Given the description of an element on the screen output the (x, y) to click on. 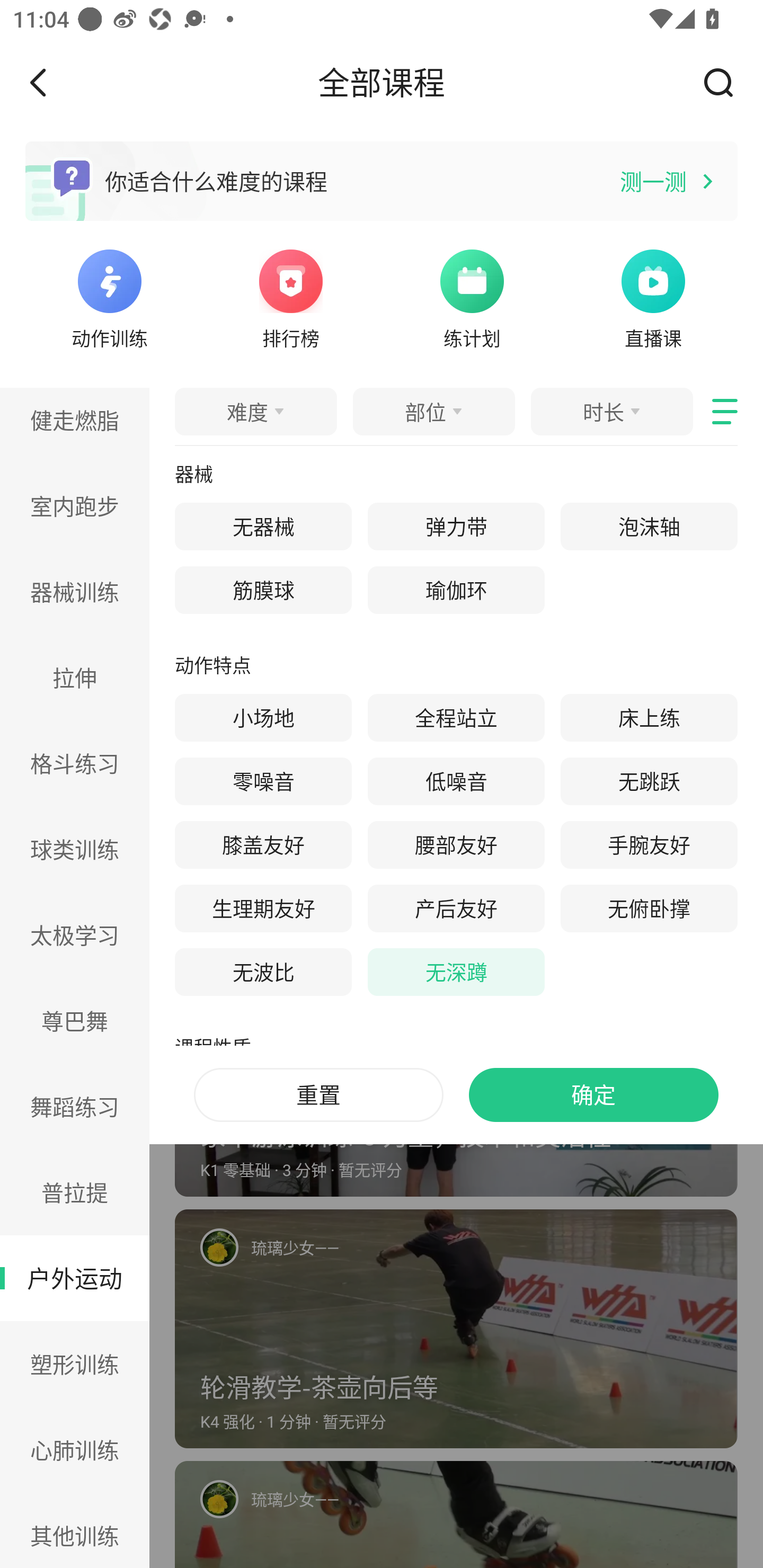
Left Button In Title Bar (50, 82)
Right Button In Title Bar (724, 82)
你适合什么难度的课程 测一测 (381, 181)
动作训练 (109, 297)
排行榜 (290, 297)
练计划 (471, 297)
直播课 (653, 297)
健走燃脂 (74, 424)
难度 (255, 411)
部位 (433, 411)
时长 (611, 411)
龙崽哭晕在厕所 在家练冲浪的秘籍！ K1 零基础 · 1 分钟 · 暂无评分 (456, 579)
室内跑步 (74, 505)
无器械 (262, 526)
弹力带 (455, 526)
泡沫轴 (648, 526)
器械训练 (74, 591)
筋膜球 (262, 590)
瑜伽环 (455, 590)
拉伸 (74, 677)
小场地 (262, 717)
全程站立 (455, 717)
床上练 (648, 717)
格斗练习 (74, 762)
零噪音 (262, 781)
低噪音 (455, 781)
无跳跃 (648, 781)
球类训练 (74, 848)
膝盖友好 (262, 844)
腰部友好 (455, 844)
手腕友好 (648, 844)
生理期友好 (262, 908)
产后友好 (455, 908)
无俯卧撑 (648, 908)
太极学习 (74, 935)
无波比 (262, 971)
无深蹲 (455, 971)
尊巴舞 (74, 1020)
舞蹈练习 (74, 1106)
重置 (318, 1094)
确定 (593, 1094)
普拉提 (74, 1192)
户外运动 (74, 1278)
塑形训练 (74, 1363)
心肺训练 (74, 1449)
其他训练 (74, 1530)
